Given the description of an element on the screen output the (x, y) to click on. 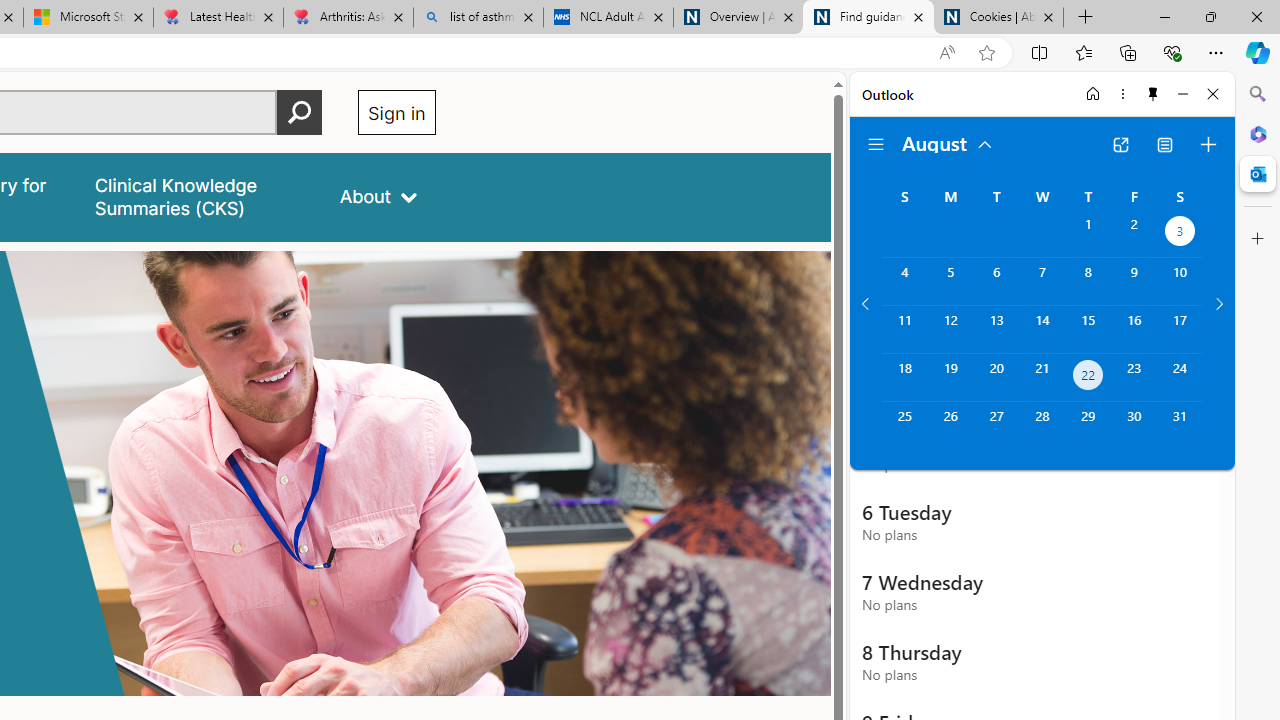
Sunday, August 4, 2024.  (904, 281)
Wednesday, August 7, 2024.  (1042, 281)
Wednesday, August 14, 2024.  (1042, 329)
Sunday, August 11, 2024.  (904, 329)
Monday, August 19, 2024.  (950, 377)
Create event (1208, 144)
Thursday, August 22, 2024. Today.  (1088, 377)
Saturday, August 10, 2024.  (1180, 281)
false (198, 196)
